Given the description of an element on the screen output the (x, y) to click on. 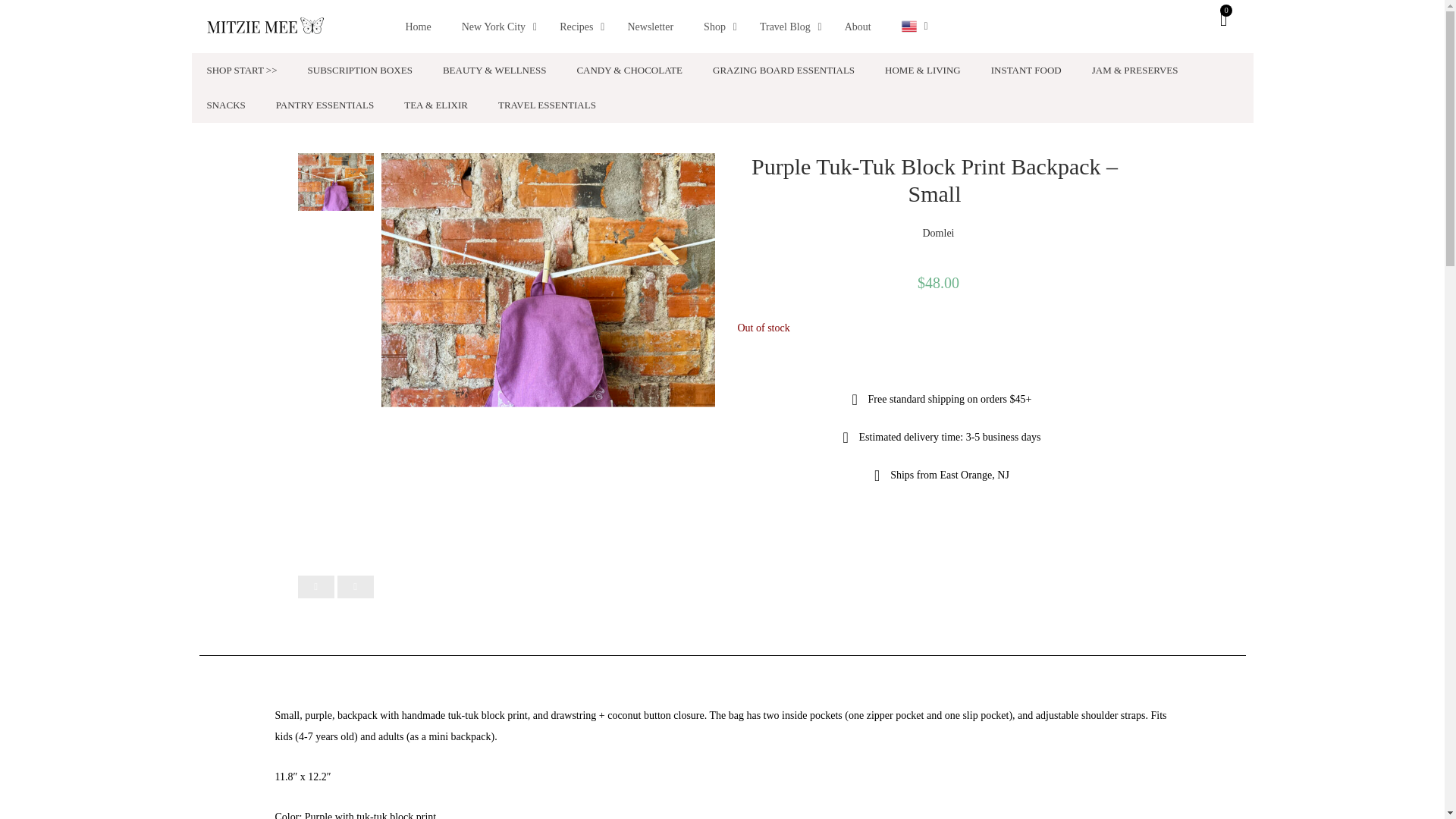
Home (417, 27)
New York City (495, 27)
Recipes (577, 27)
Shop (716, 27)
Newsletter (649, 27)
